Given the description of an element on the screen output the (x, y) to click on. 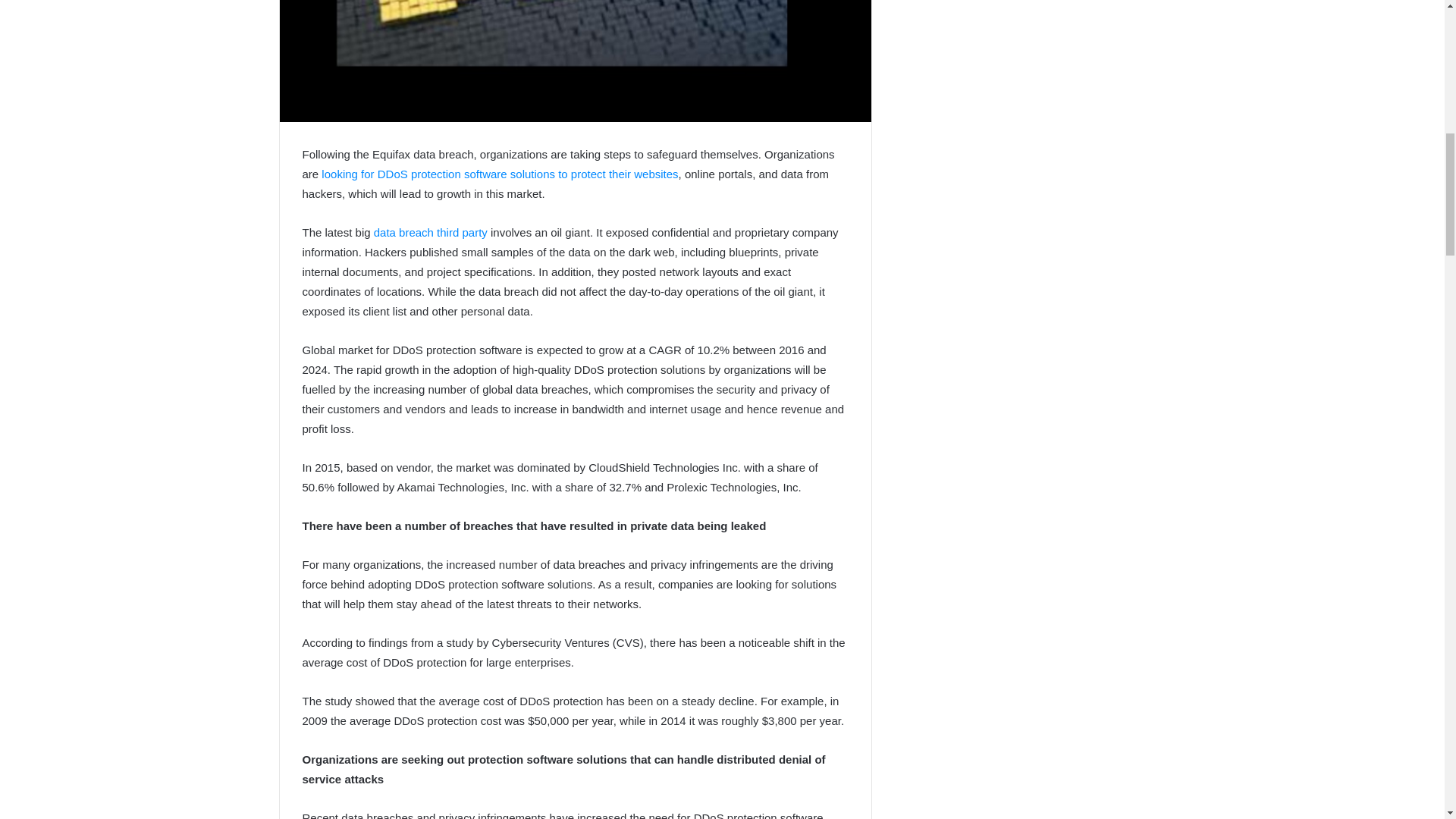
data breach third party (430, 232)
